Given the description of an element on the screen output the (x, y) to click on. 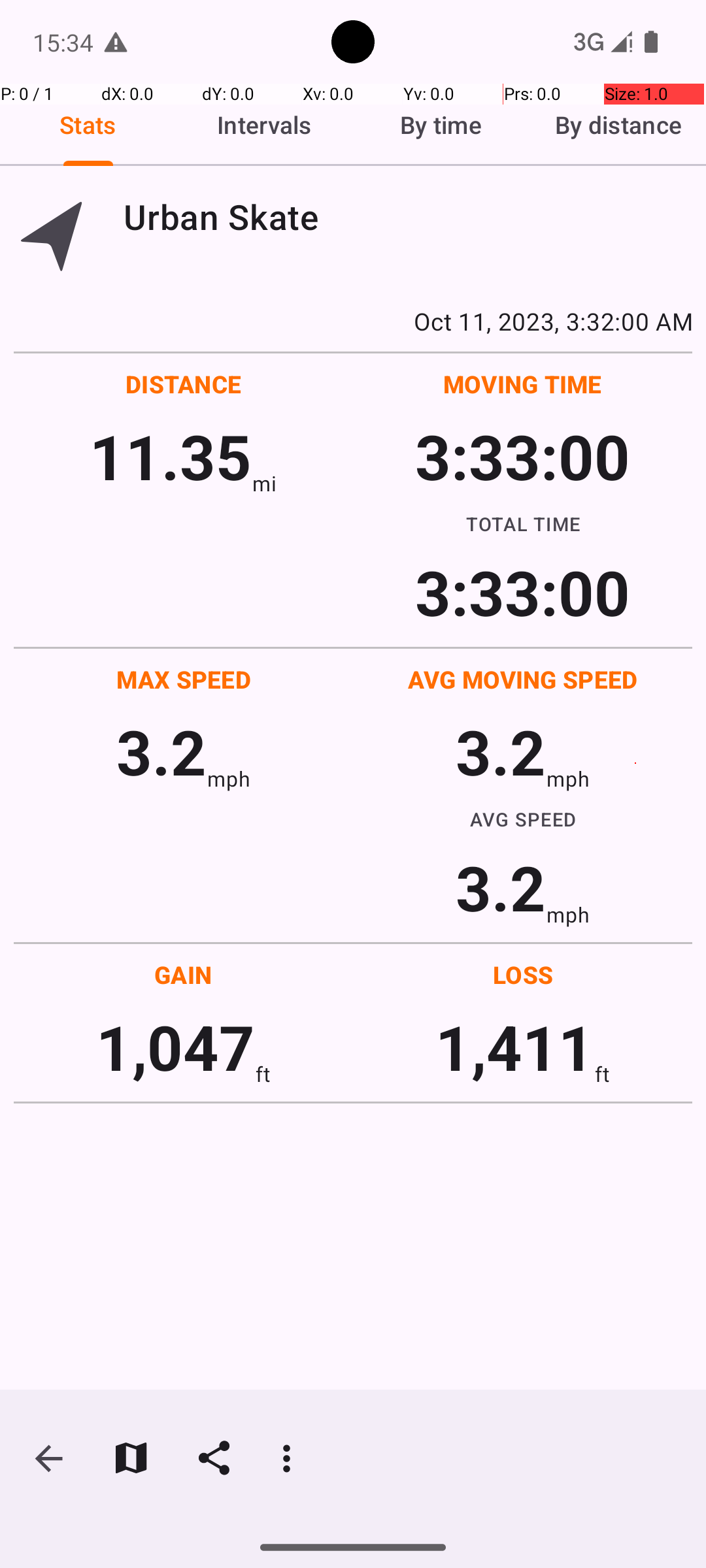
Urban Skate Element type: android.widget.TextView (407, 216)
Oct 11, 2023, 3:32:00 AM Element type: android.widget.TextView (352, 320)
MOVING TIME Element type: android.widget.TextView (522, 383)
11.35 Element type: android.widget.TextView (170, 455)
mi Element type: android.widget.TextView (264, 483)
3:33:00 Element type: android.widget.TextView (522, 455)
TOTAL TIME Element type: android.widget.TextView (522, 523)
MAX SPEED Element type: android.widget.TextView (183, 678)
AVG MOVING SPEED Element type: android.widget.TextView (522, 678)
3.2 Element type: android.widget.TextView (161, 750)
mph Element type: android.widget.TextView (228, 778)
AVG SPEED Element type: android.widget.TextView (522, 818)
GAIN Element type: android.widget.TextView (183, 974)
LOSS Element type: android.widget.TextView (522, 974)
1,047 Element type: android.widget.TextView (175, 1045)
ft Element type: android.widget.TextView (262, 1073)
1,411 Element type: android.widget.TextView (514, 1045)
